Given the description of an element on the screen output the (x, y) to click on. 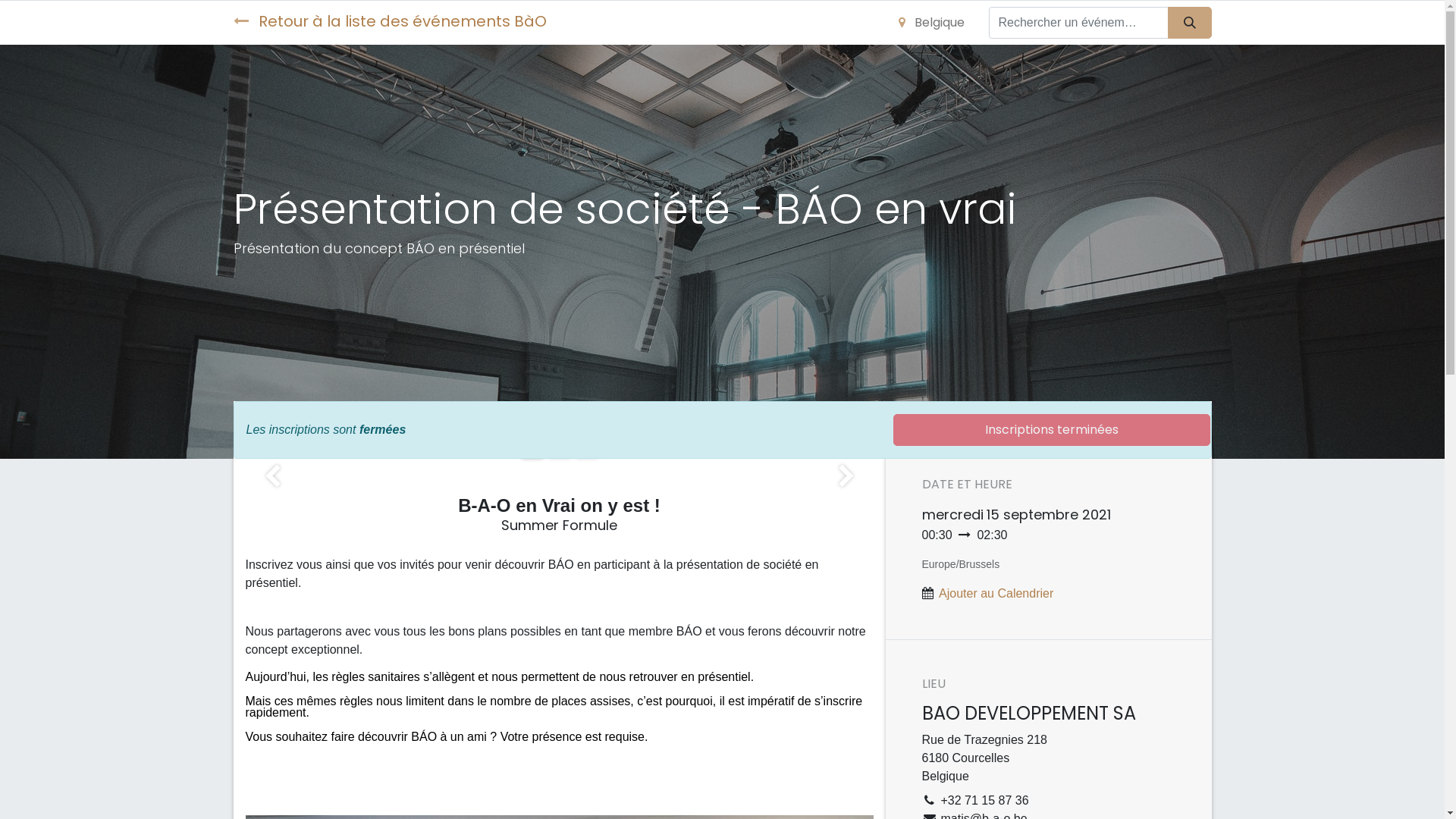
Belgique Element type: text (930, 22)
Ajouter au Calendrier Element type: text (995, 592)
Rechercher Element type: hover (1189, 22)
